Given the description of an element on the screen output the (x, y) to click on. 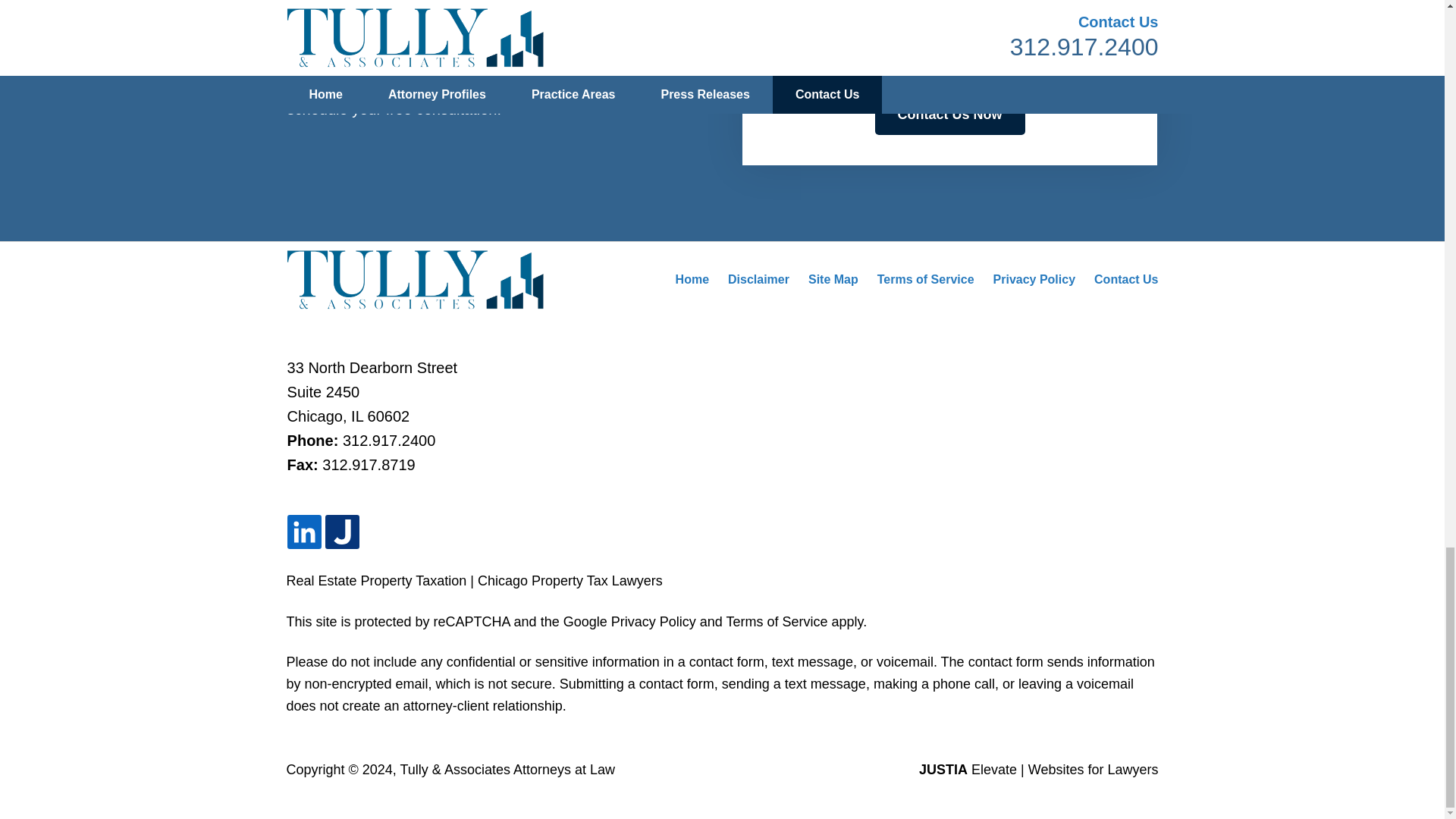
Terms of Service (776, 621)
312.917.2400 (388, 440)
Site Map (833, 278)
Google Privacy Policy (629, 621)
Linkedin (303, 533)
Contact Us (1125, 278)
Contact Us Now (950, 115)
Home (692, 278)
Justia (341, 533)
Terms of Service (925, 278)
Privacy Policy (1033, 278)
Disclaimer (758, 278)
